Given the description of an element on the screen output the (x, y) to click on. 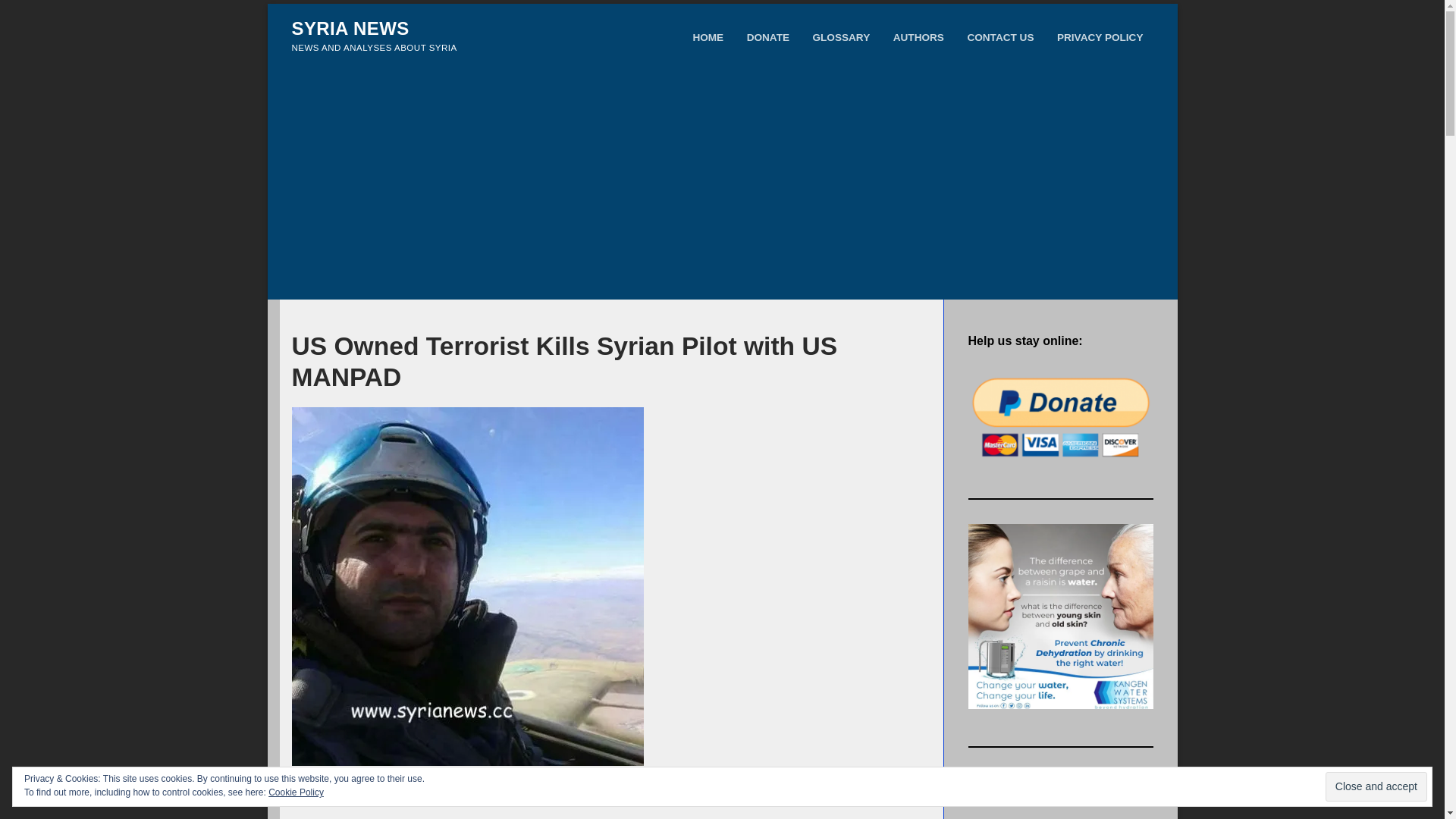
AUTHORS Element type: text (918, 37)
Advertisement Element type: hover (721, 185)
DECEMBER 27, 2017 Element type: text (342, 796)
SYRIA Element type: text (509, 796)
Cookie Policy Element type: text (295, 792)
DONATE Element type: text (768, 37)
CONTACT US Element type: text (1000, 37)
Skip to content Element type: text (266, 3)
MIRI WOOD Element type: text (442, 796)
Close and accept Element type: text (1376, 786)
1 COMMENT Element type: text (580, 796)
SYRIA NEWS Element type: text (349, 27)
HOME Element type: text (707, 37)
GLOSSARY Element type: text (840, 37)
PRIVACY POLICY Element type: text (1100, 37)
